Given the description of an element on the screen output the (x, y) to click on. 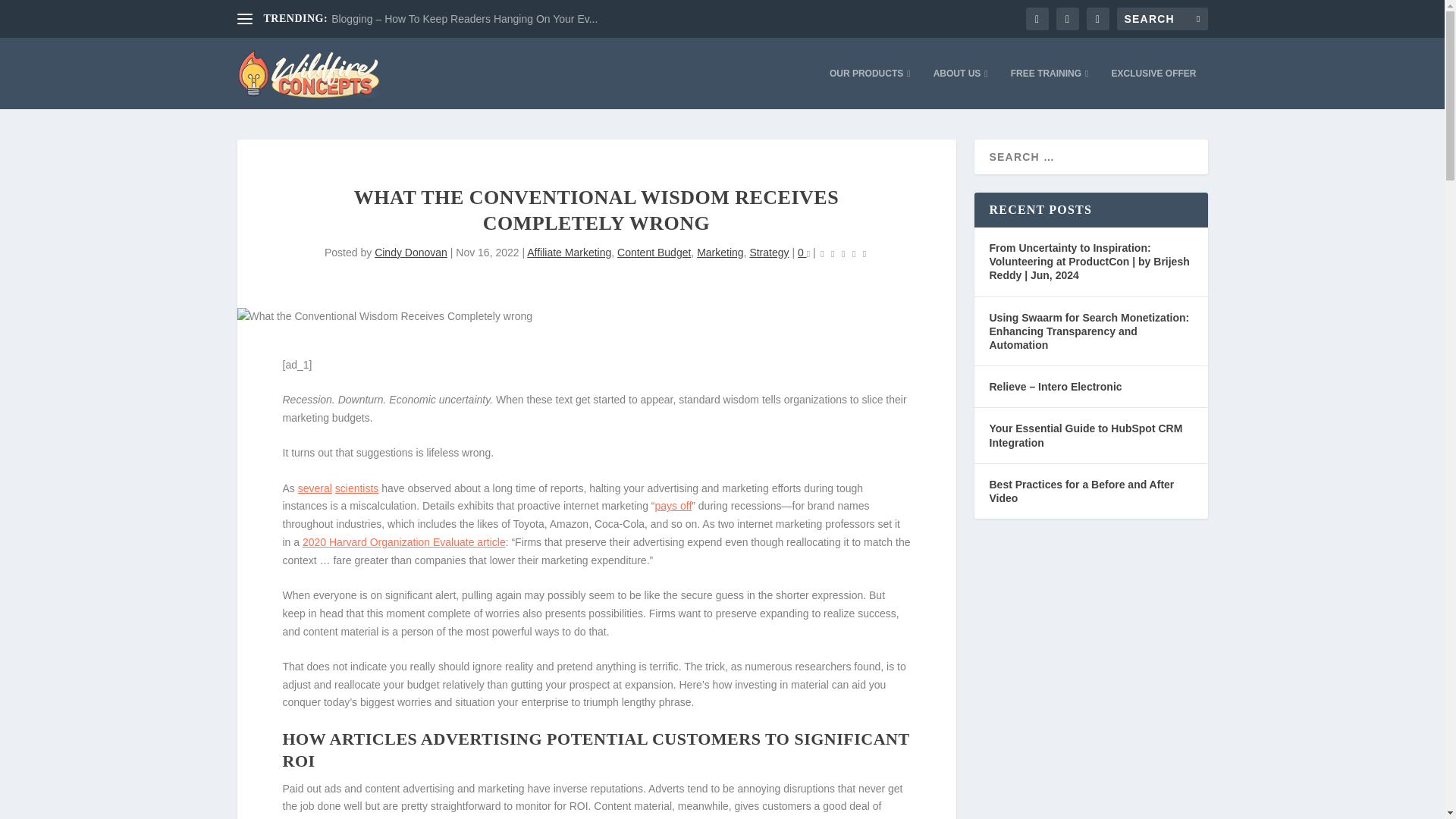
OUR PRODUCTS (870, 87)
ABOUT US (960, 87)
Search for: (1161, 18)
Rating: 0.00 (842, 253)
FREE TRAINING (1049, 87)
Posts by Cindy Donovan (410, 252)
